Given the description of an element on the screen output the (x, y) to click on. 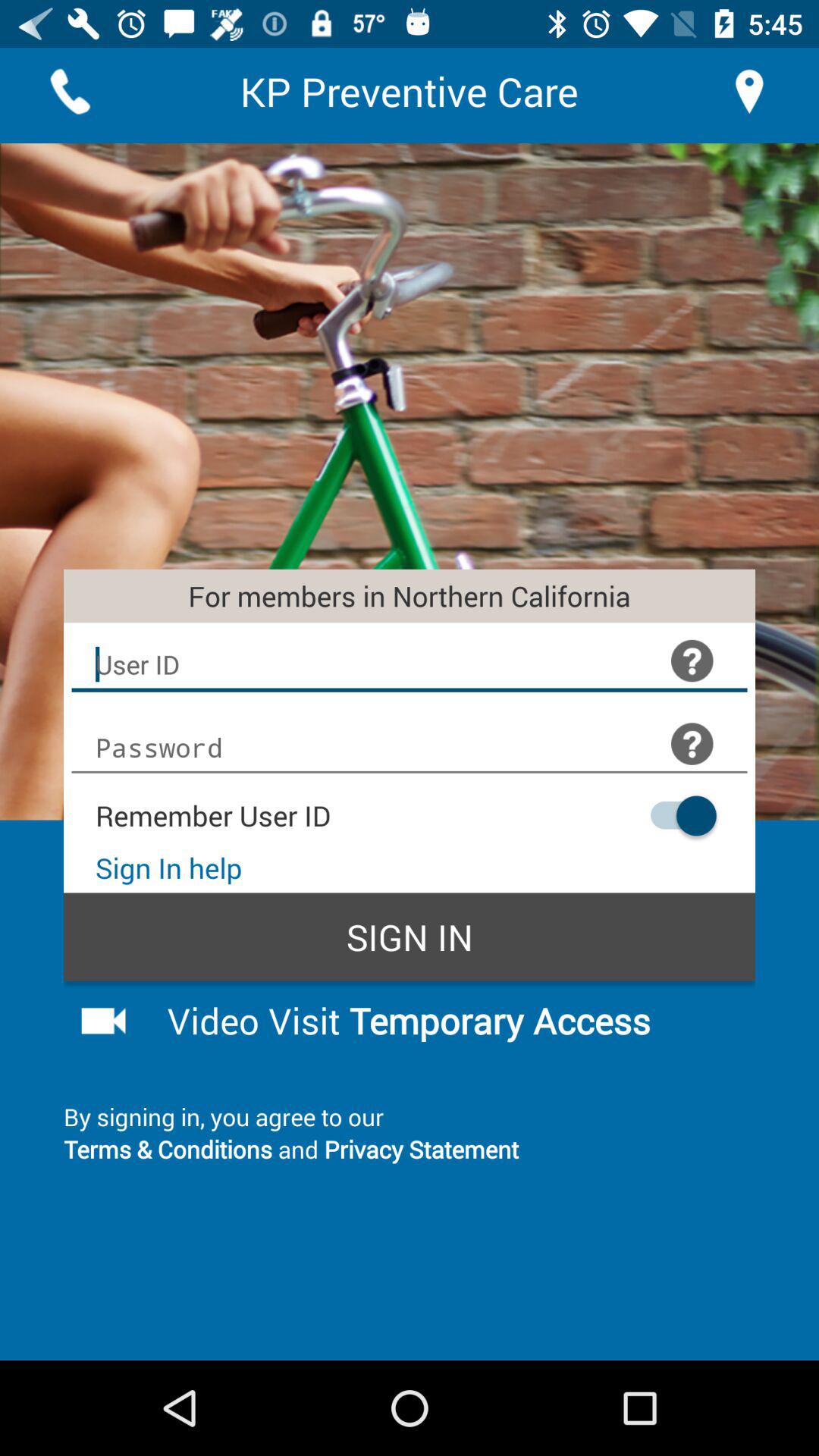
swipe until video visit temporary item (449, 1020)
